Given the description of an element on the screen output the (x, y) to click on. 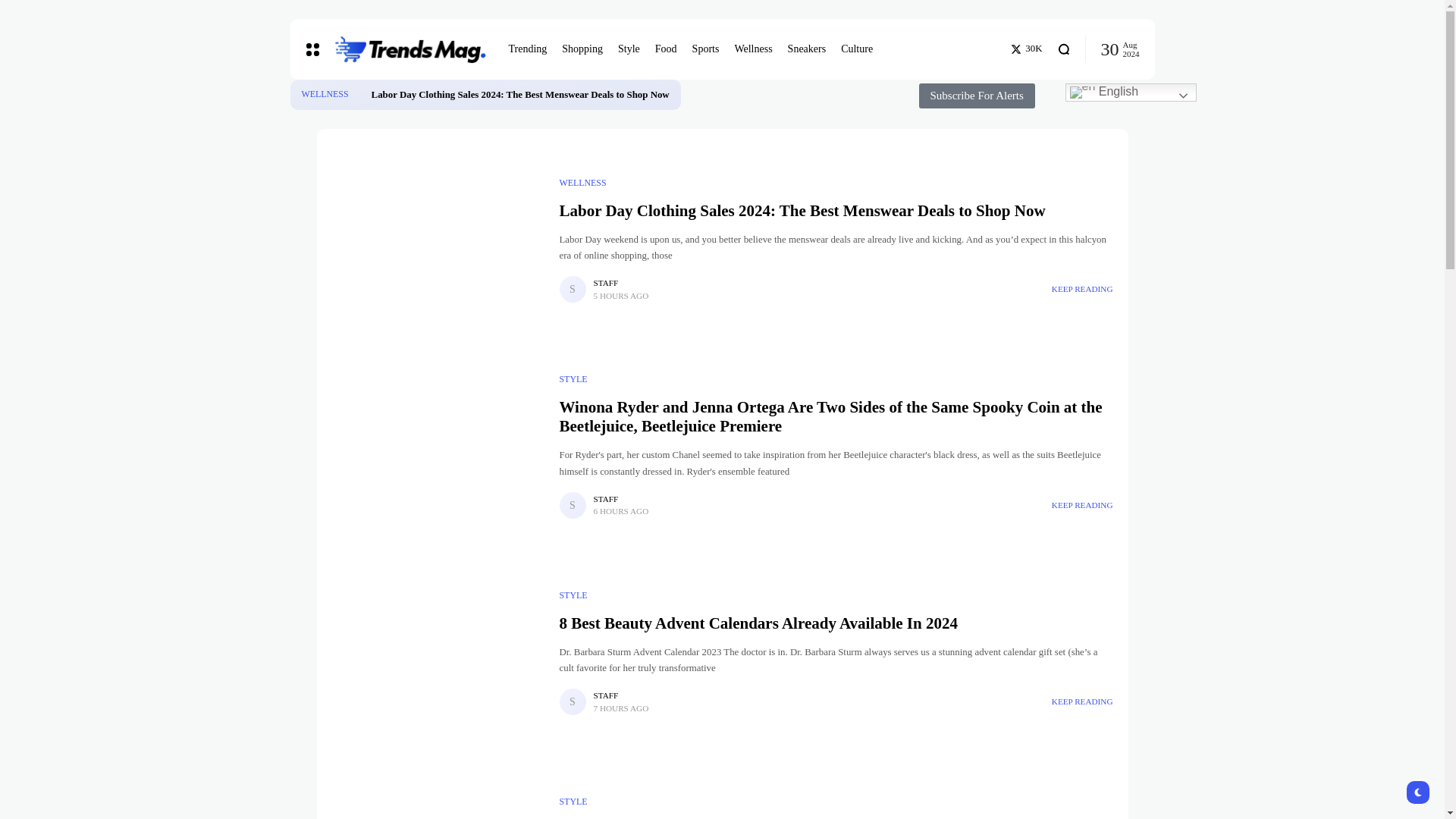
English (1129, 92)
Trends Mag (408, 49)
30K (1026, 48)
WELLNESS (325, 94)
Subscribe For Alerts (976, 95)
